Given the description of an element on the screen output the (x, y) to click on. 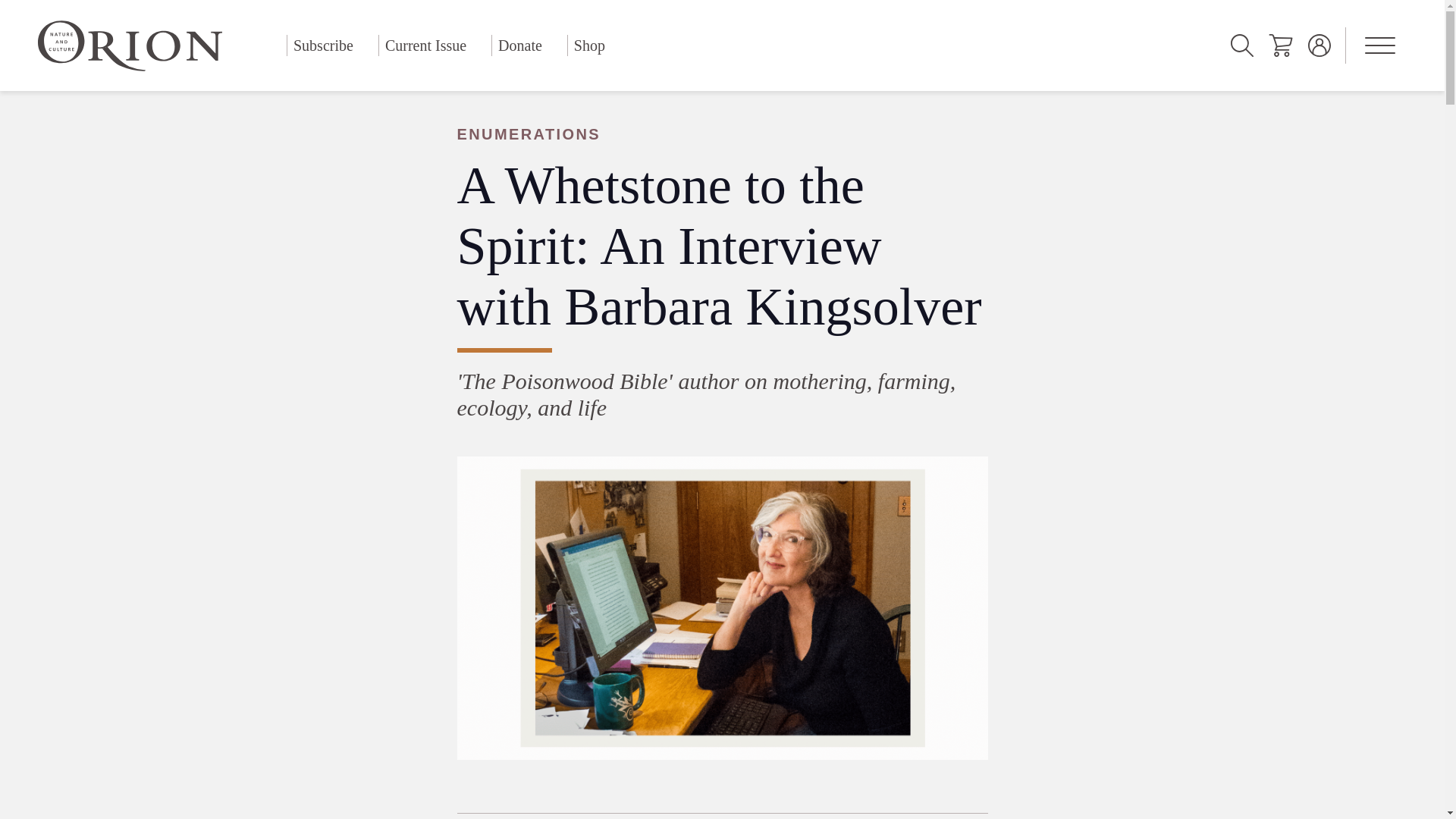
Donate (520, 45)
Current Issue (424, 45)
Search (1242, 45)
Cart (1280, 45)
Shop (589, 45)
Subscribe (322, 45)
Account Dashboard (1319, 45)
ENUMERATIONS (721, 134)
